Given the description of an element on the screen output the (x, y) to click on. 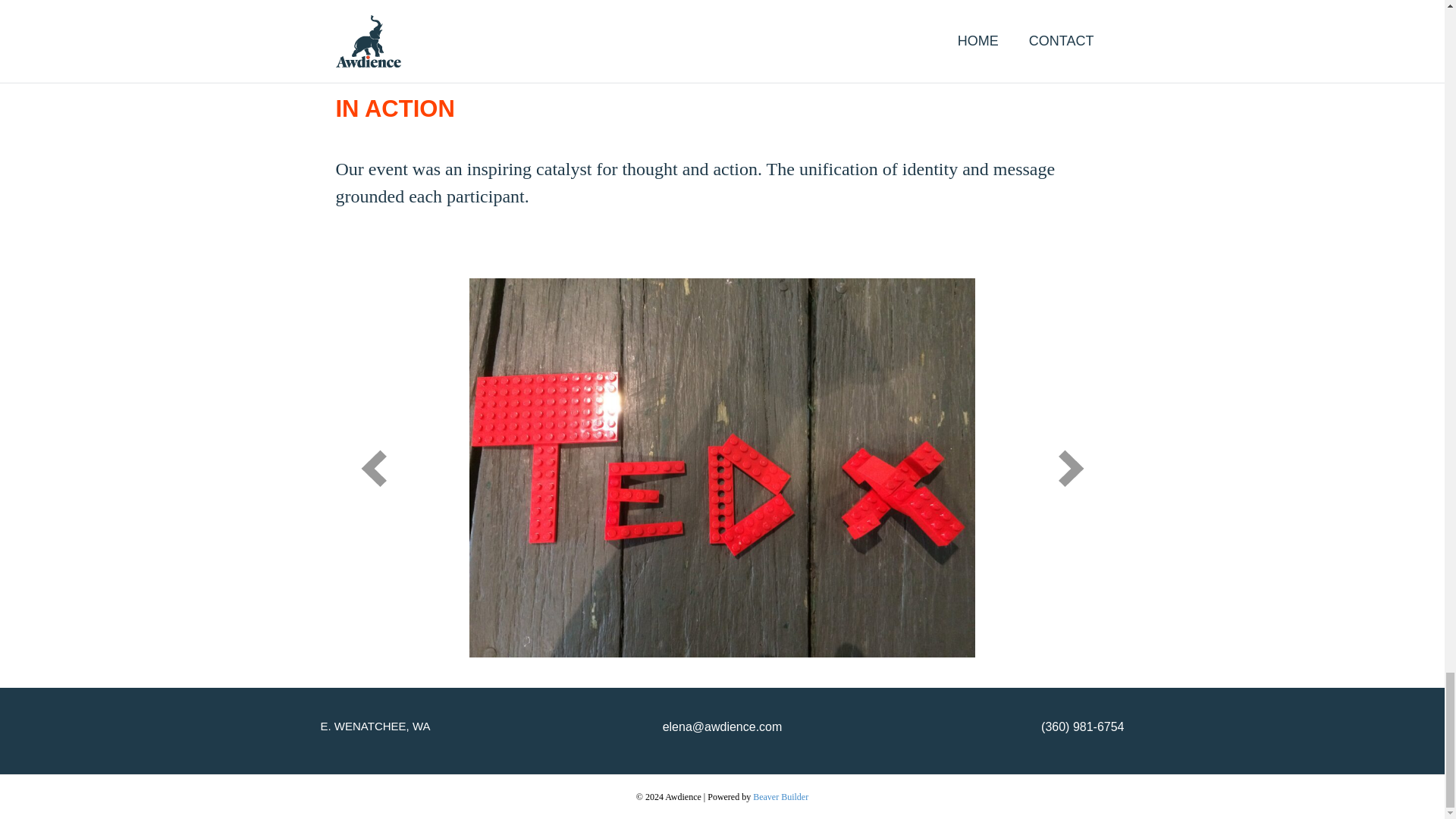
WordPress Page Builder Plugin (780, 796)
Beaver Builder (780, 796)
